Given the description of an element on the screen output the (x, y) to click on. 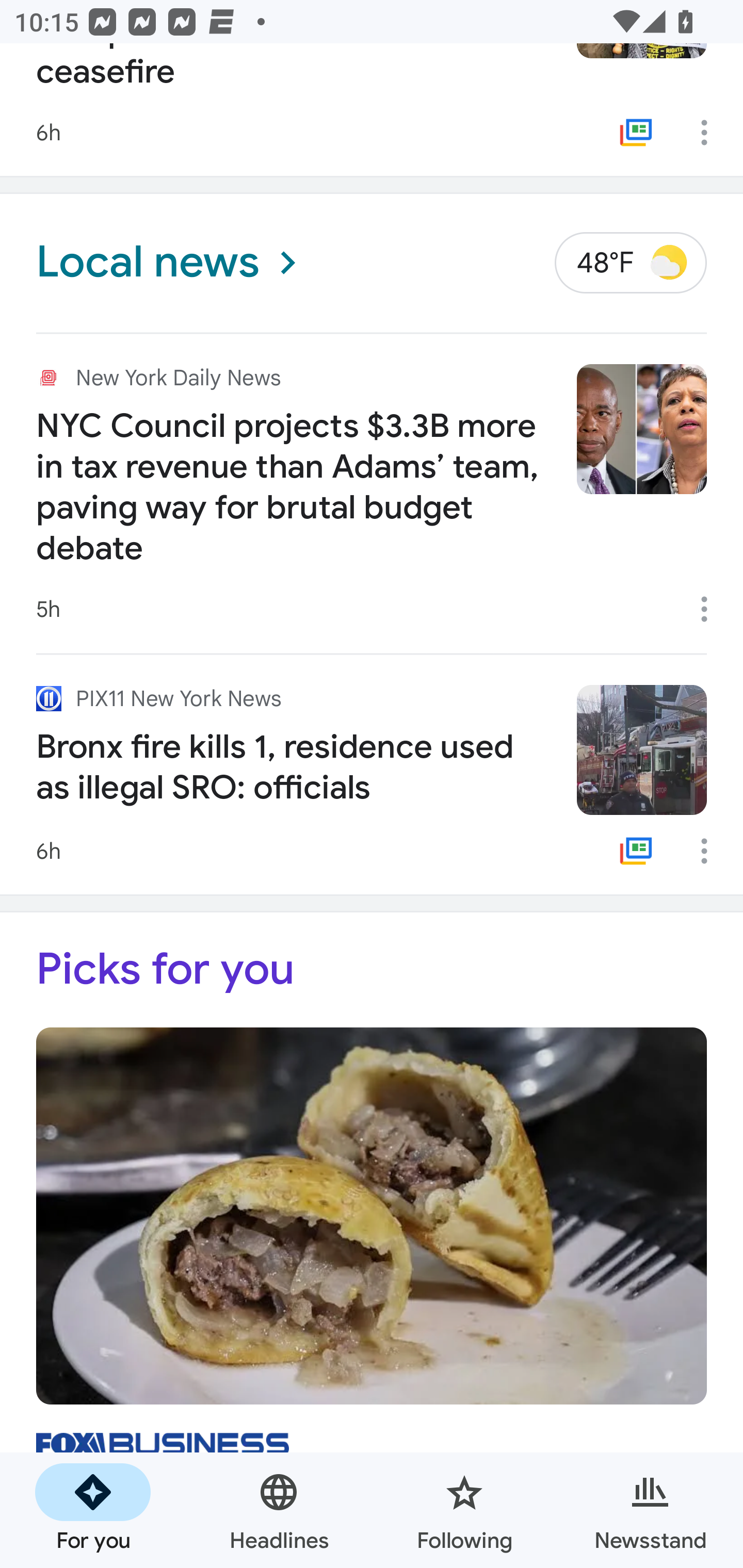
More options (711, 132)
More options (711, 609)
More options (711, 850)
For you (92, 1509)
Headlines (278, 1509)
Following (464, 1509)
Newsstand (650, 1509)
